Given the description of an element on the screen output the (x, y) to click on. 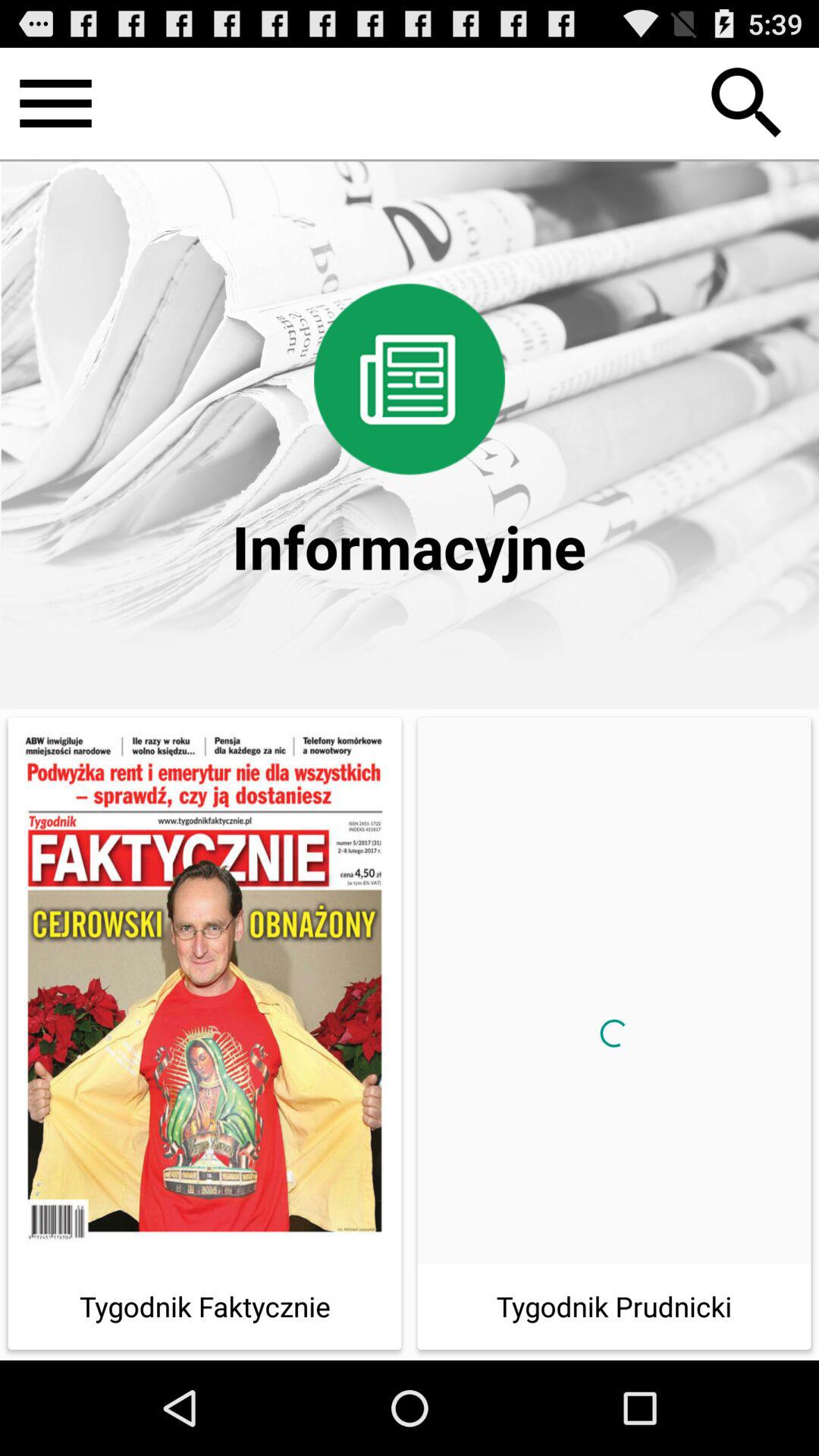
open settings (55, 103)
